Given the description of an element on the screen output the (x, y) to click on. 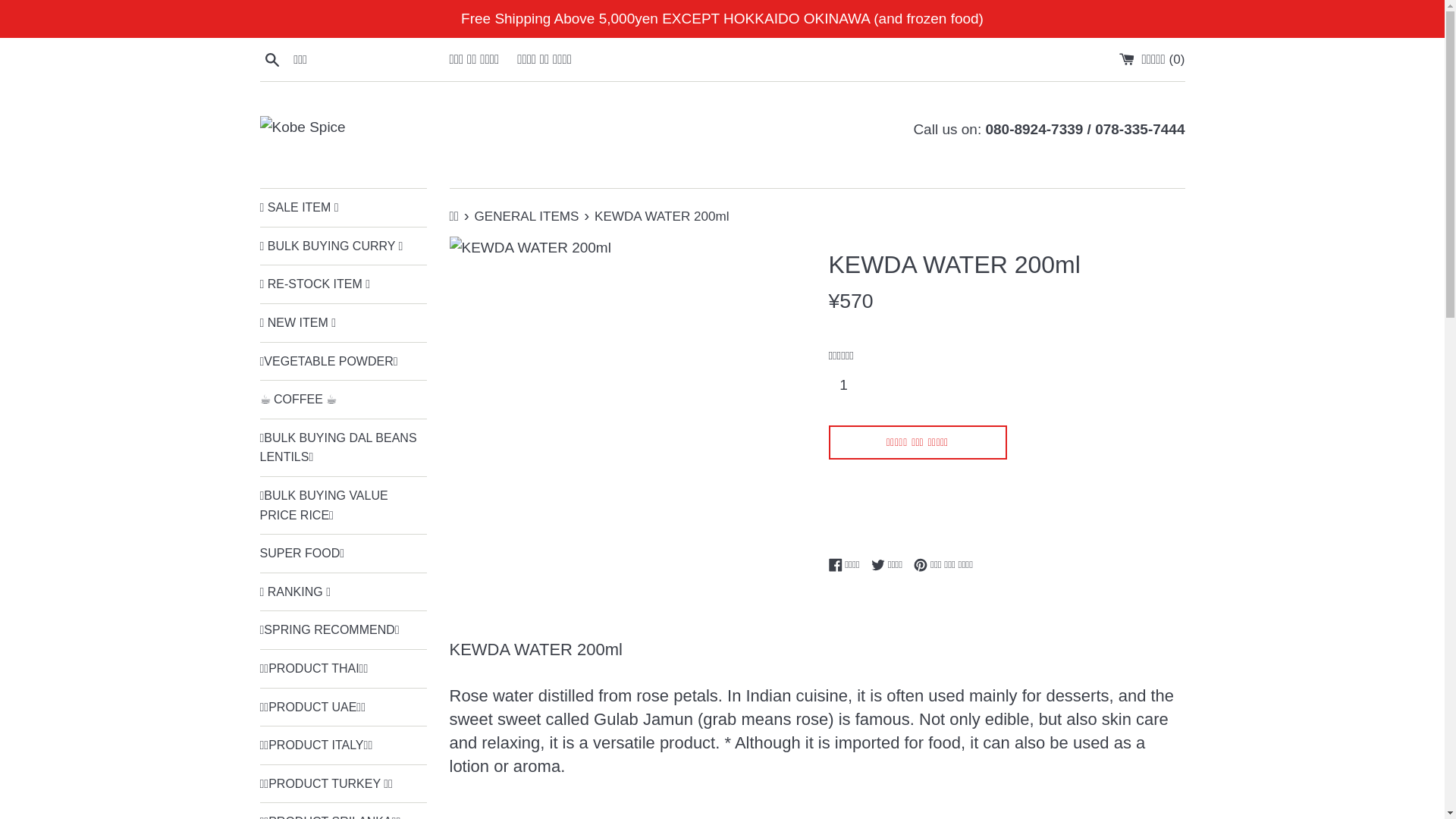
1 (848, 384)
